Given the description of an element on the screen output the (x, y) to click on. 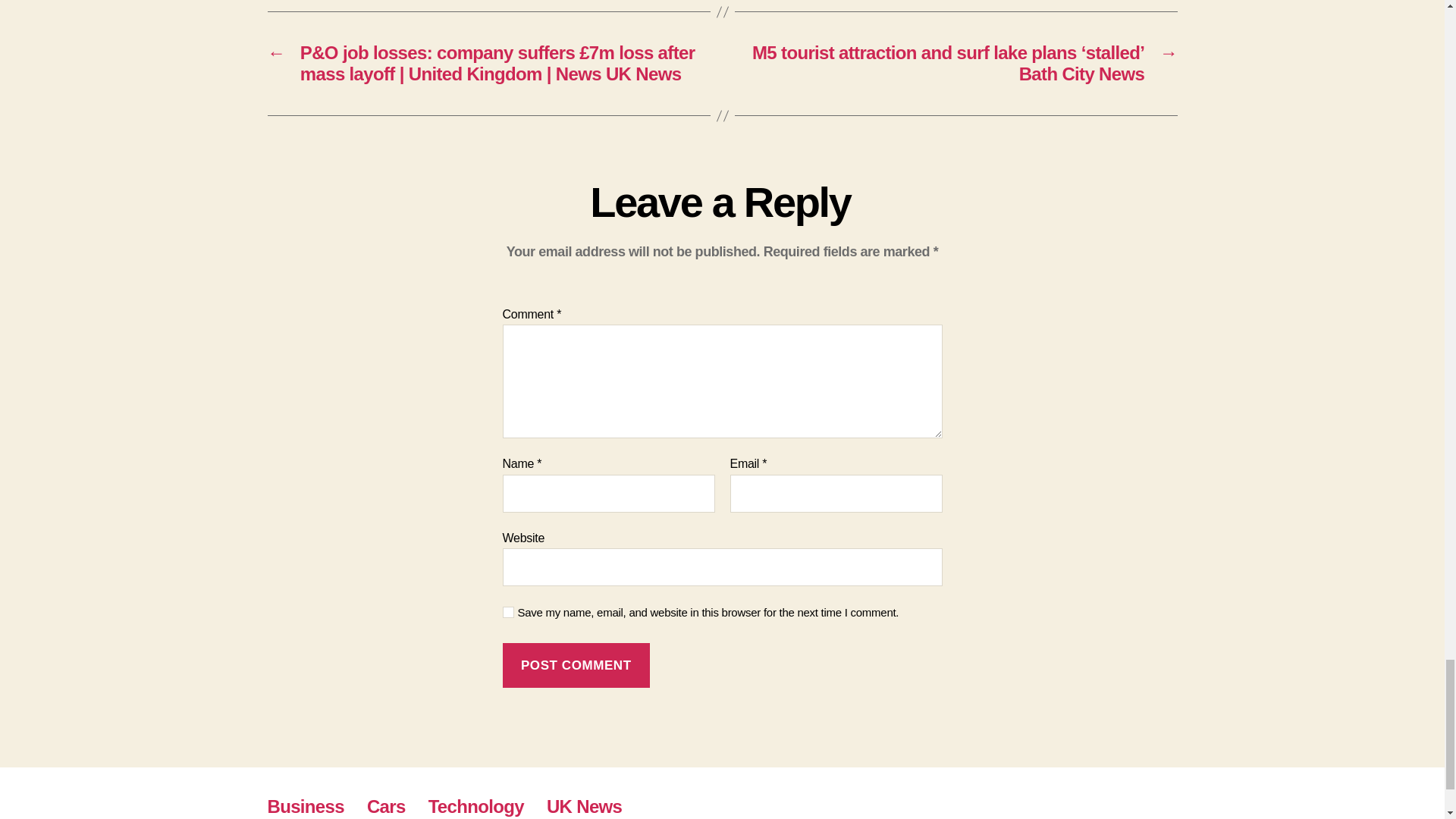
Technology (476, 806)
Post Comment (575, 664)
yes (507, 612)
Post Comment (575, 664)
Business (304, 806)
Cars (386, 806)
UK News (584, 806)
